Given the description of an element on the screen output the (x, y) to click on. 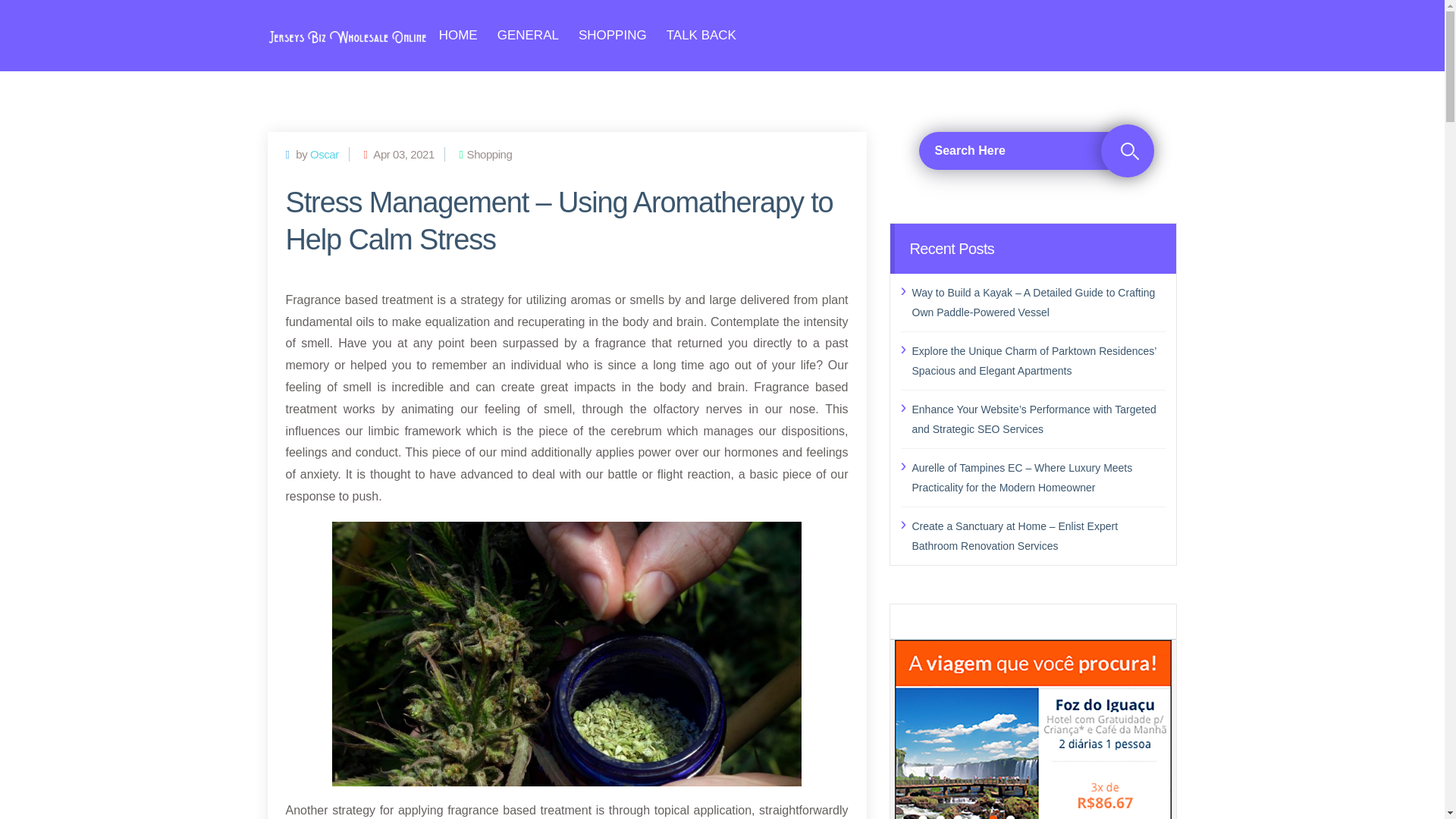
Oscar (324, 153)
SHOPPING (612, 35)
TALK BACK (701, 35)
GENERAL (528, 35)
